Given the description of an element on the screen output the (x, y) to click on. 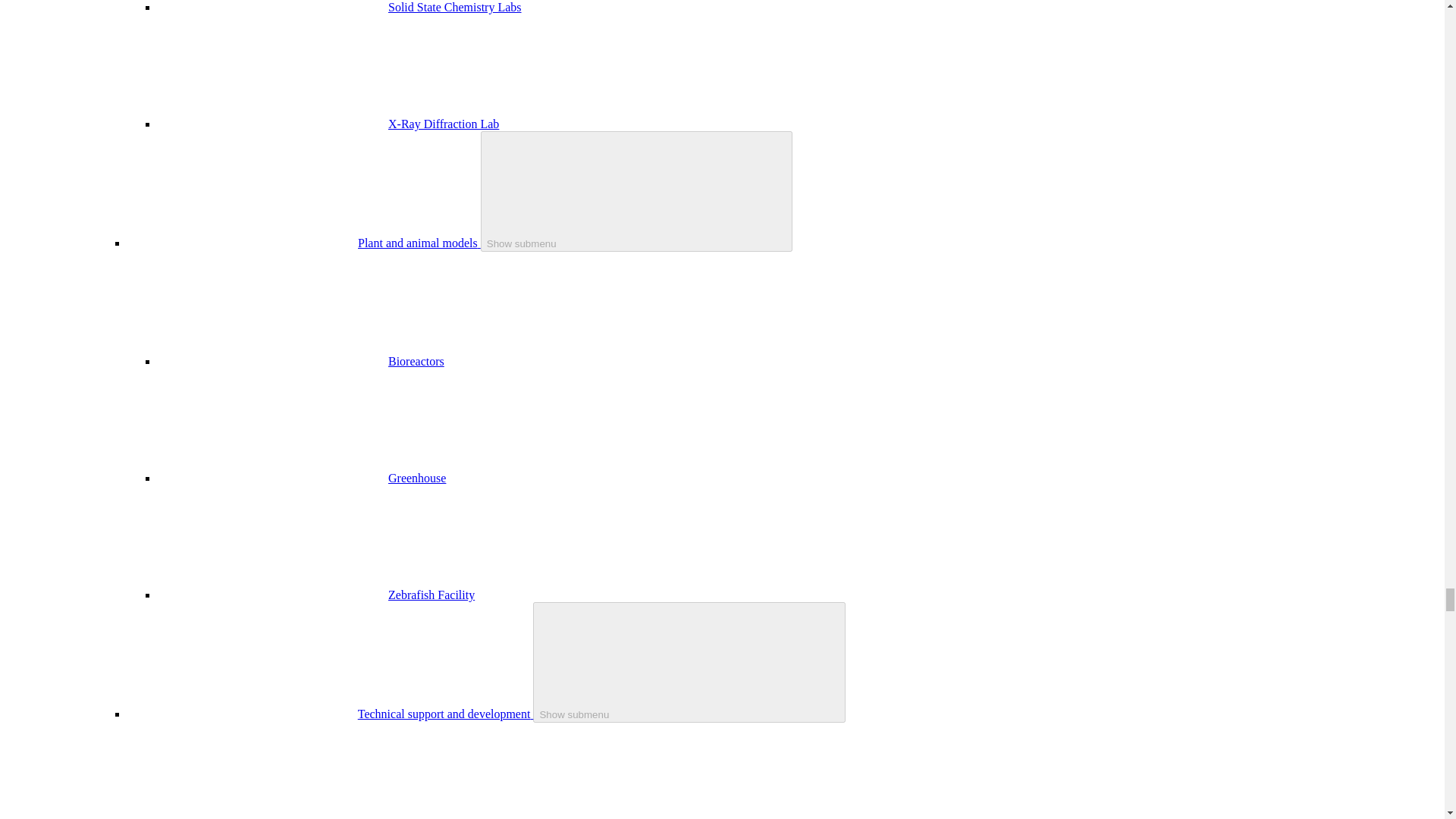
X-Ray Diffraction Lab (443, 123)
